Given the description of an element on the screen output the (x, y) to click on. 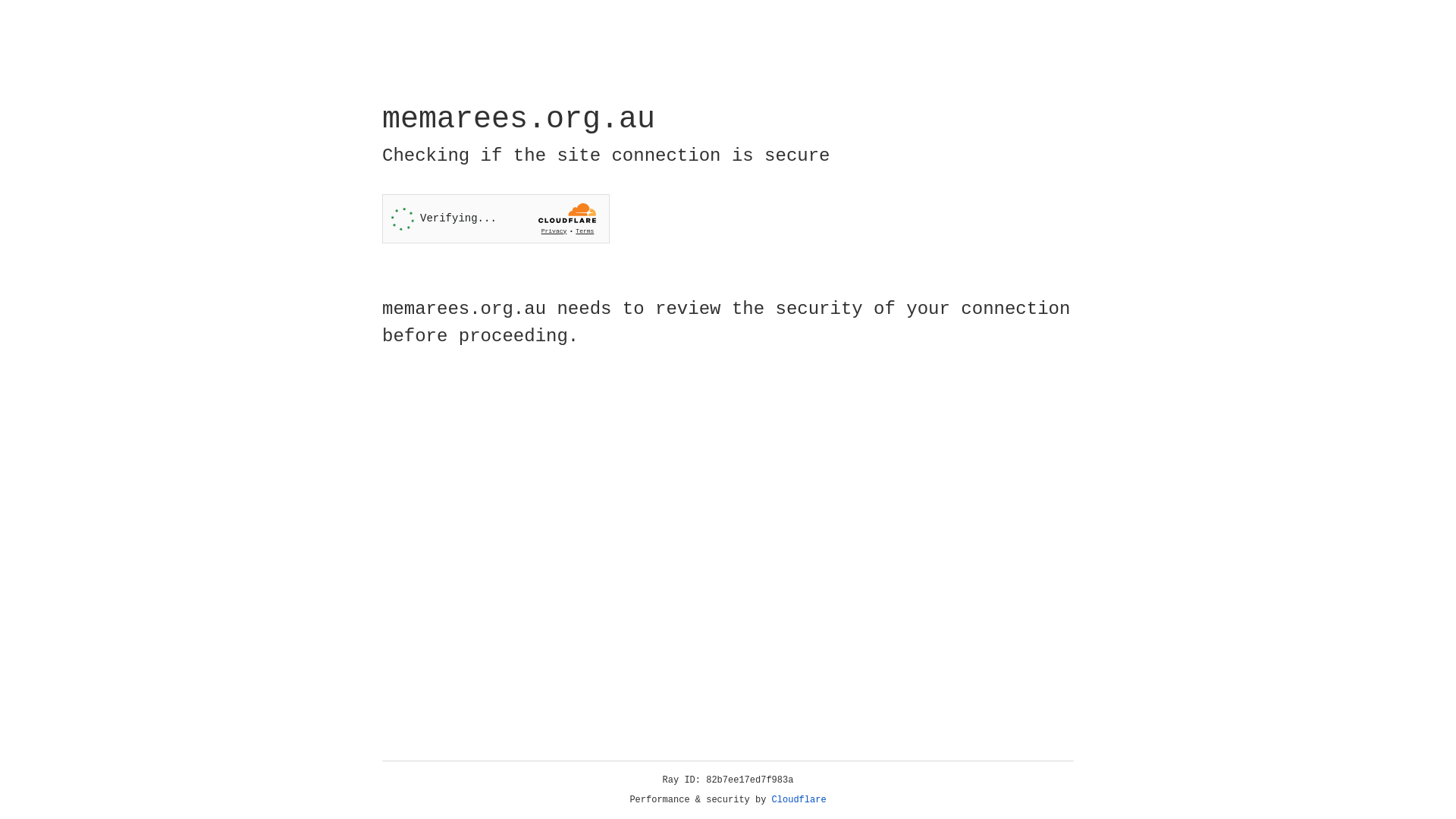
Widget containing a Cloudflare security challenge Element type: hover (495, 218)
Cloudflare Element type: text (798, 799)
